Given the description of an element on the screen output the (x, y) to click on. 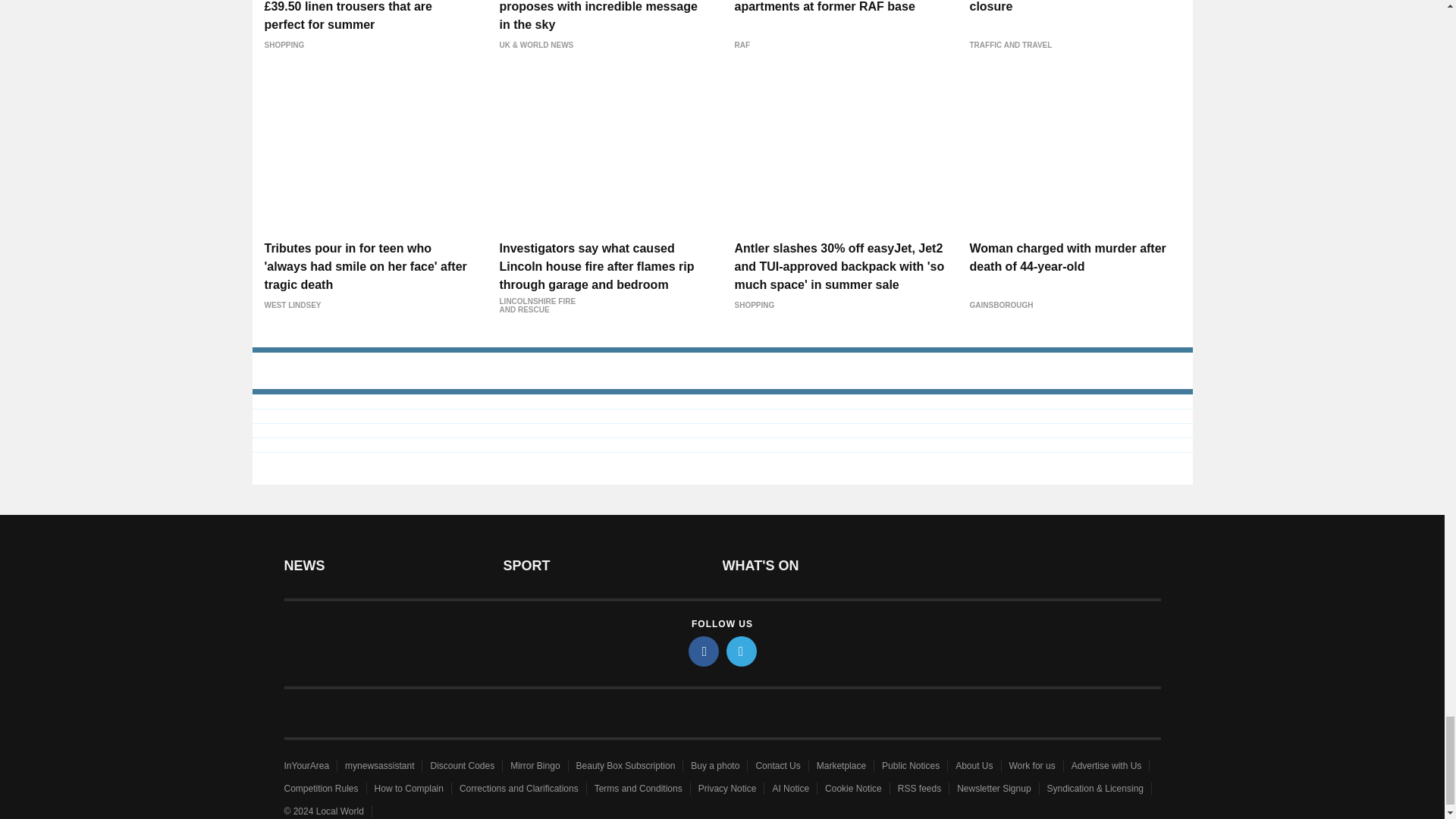
facebook (703, 651)
twitter (741, 651)
